Given the description of an element on the screen output the (x, y) to click on. 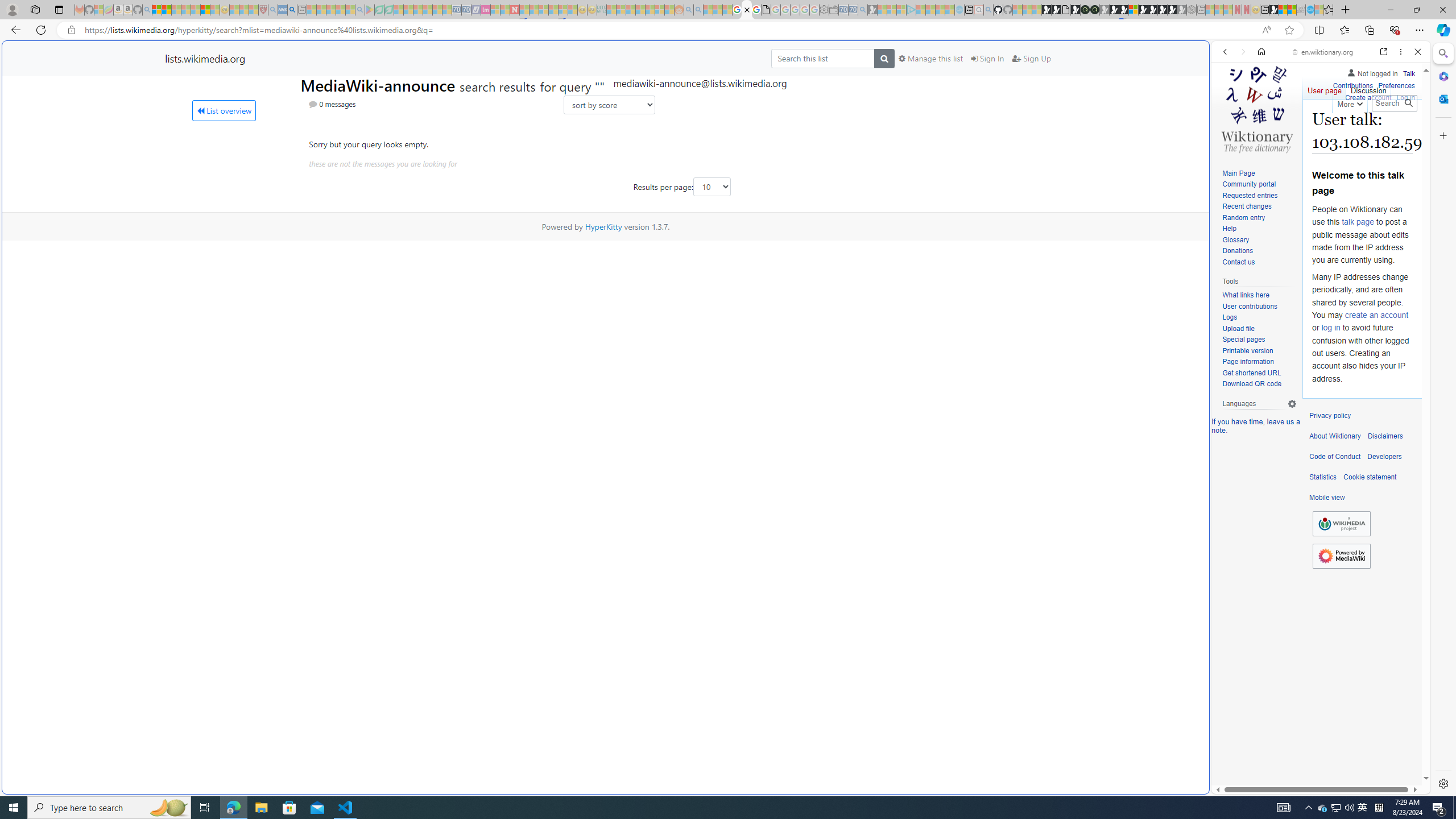
Preferences (1396, 84)
Frequently visited (965, 151)
github - Search - Sleeping (988, 9)
Disclaimers (1385, 436)
Preferences (1396, 85)
More (1349, 101)
Bluey: Let's Play! - Apps on Google Play - Sleeping (369, 9)
